Given the description of an element on the screen output the (x, y) to click on. 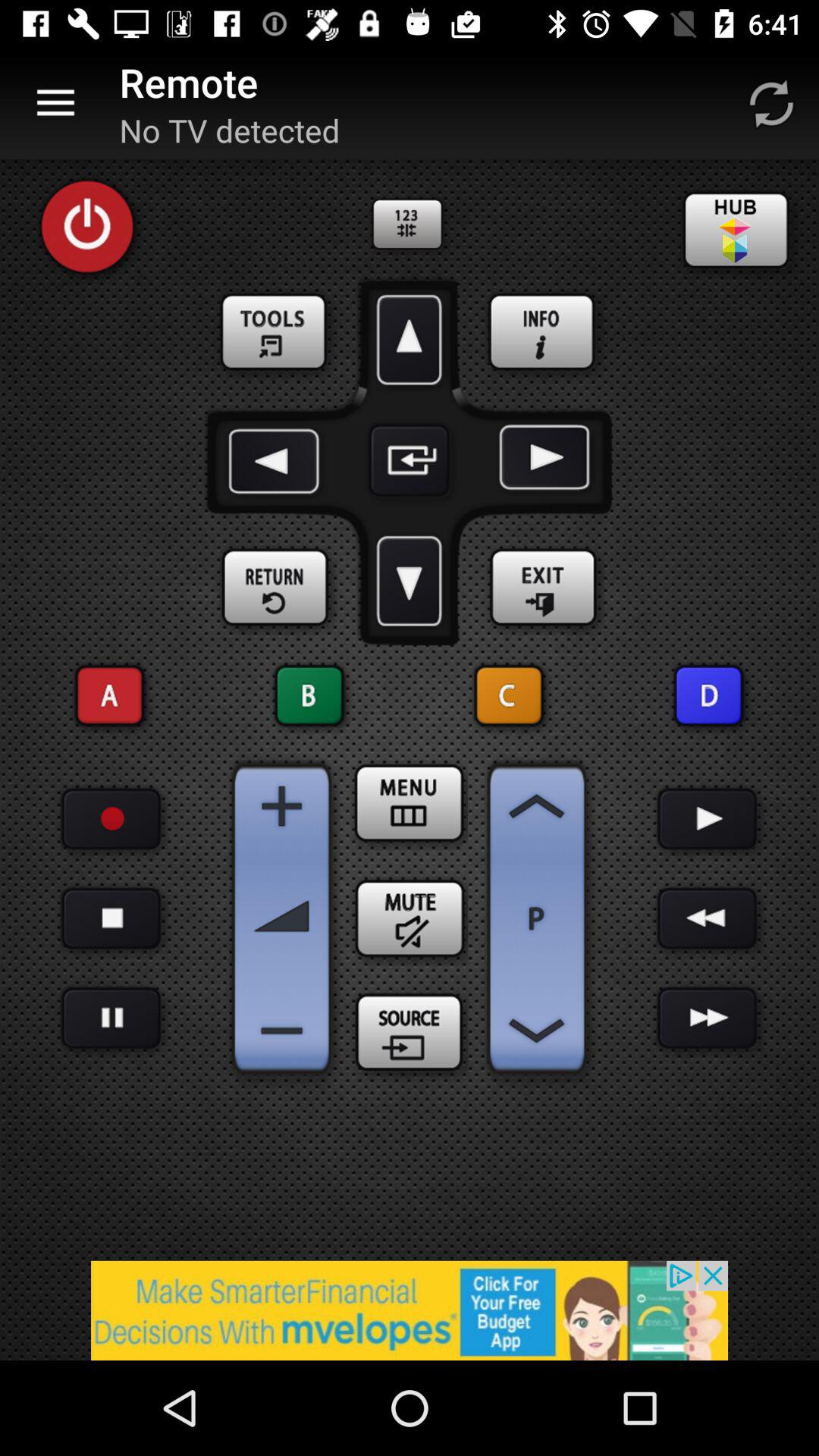
go back (707, 918)
